Given the description of an element on the screen output the (x, y) to click on. 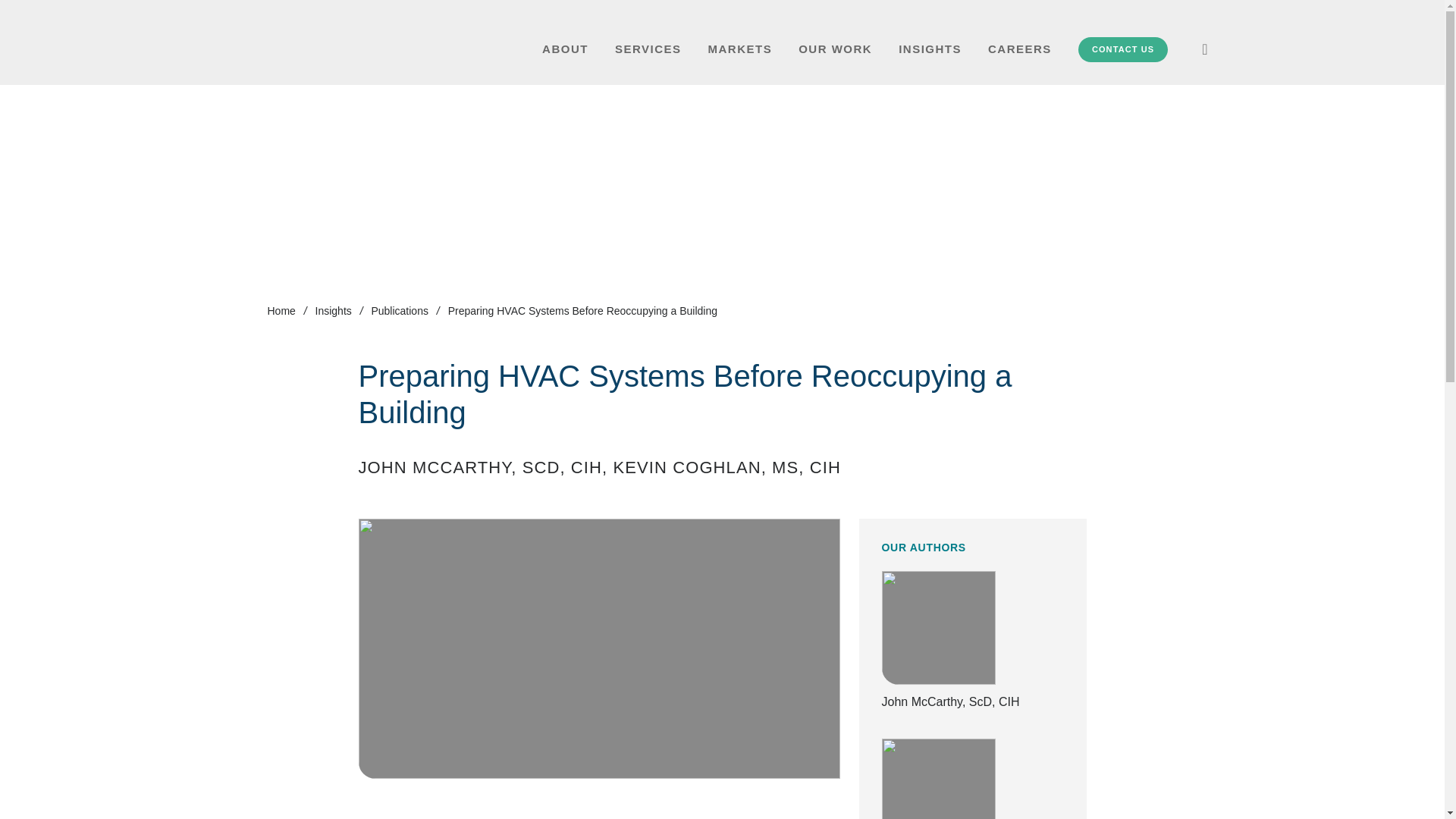
OUR WORK (834, 49)
CAREERS (1019, 49)
MARKETS (740, 49)
CONTACT US (1122, 48)
SERVICES (647, 49)
